Given the description of an element on the screen output the (x, y) to click on. 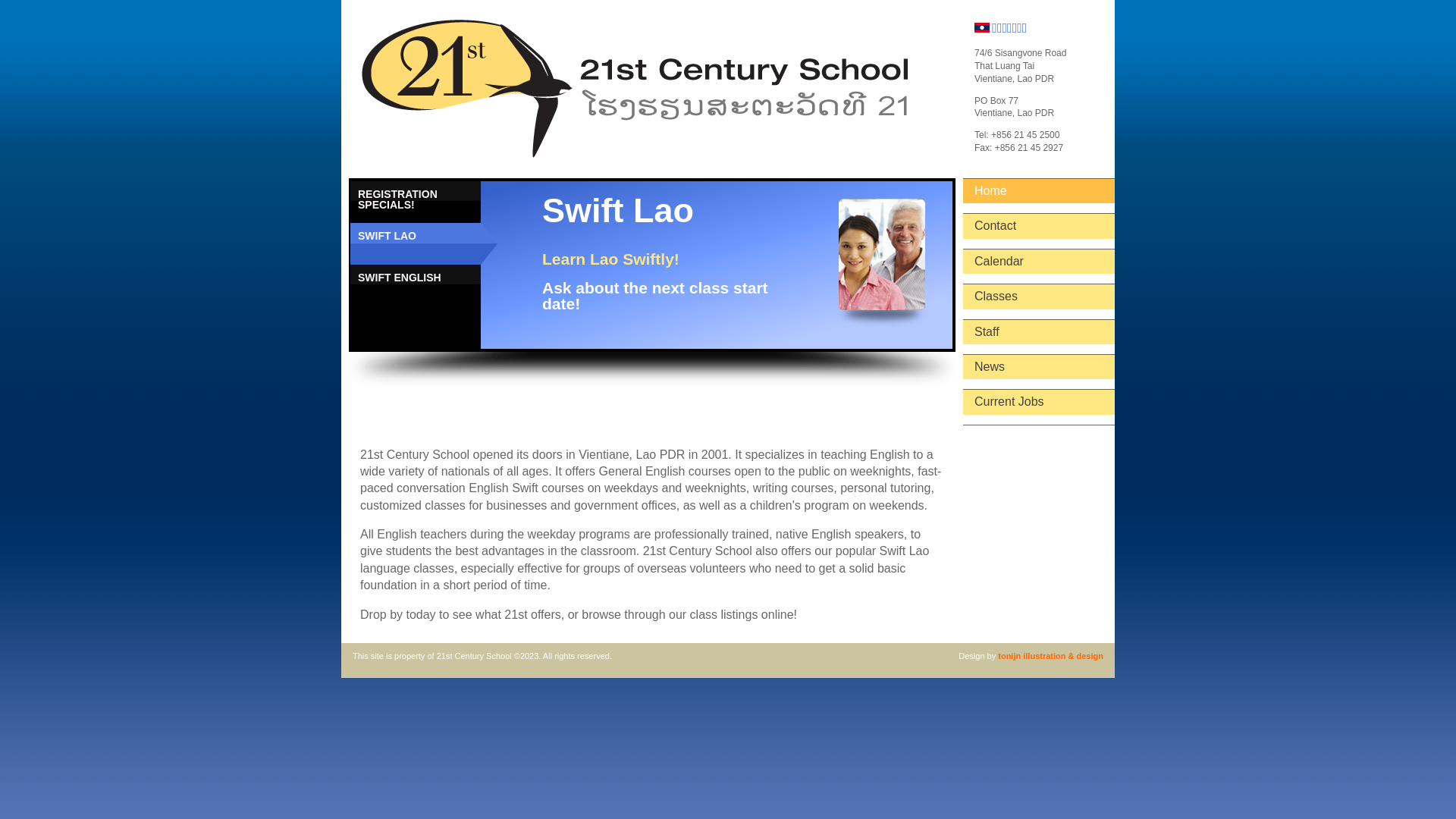
Classes Element type: text (1038, 296)
Contact Element type: text (1038, 225)
REGISTRATION
SPECIALS! Element type: text (435, 201)
SWIFT ENGLISH Element type: text (435, 285)
SWIFT LAO Element type: text (435, 243)
Current Jobs Element type: text (1038, 401)
Calendar Element type: text (1038, 261)
News Element type: text (1038, 366)
Home Element type: text (1038, 190)
Staff Element type: text (1038, 332)
tonijn illustration & design Element type: text (1050, 655)
Learn Lao Swiftly! Element type: text (610, 258)
